Given the description of an element on the screen output the (x, y) to click on. 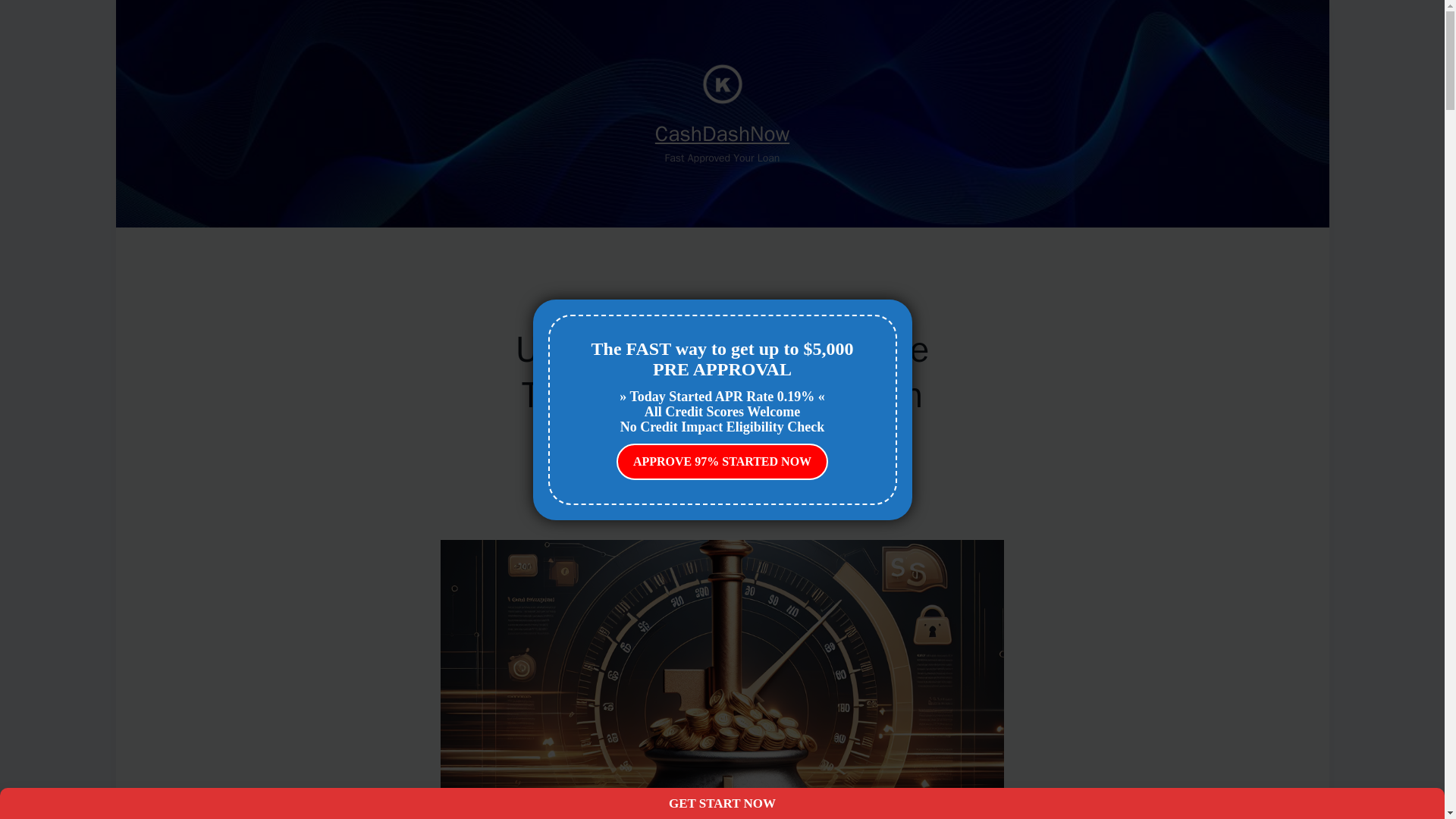
Feb 19, 2024 (759, 487)
CashDashNow (722, 132)
Jessica Roberts (688, 487)
OfferLoans (722, 310)
